Given the description of an element on the screen output the (x, y) to click on. 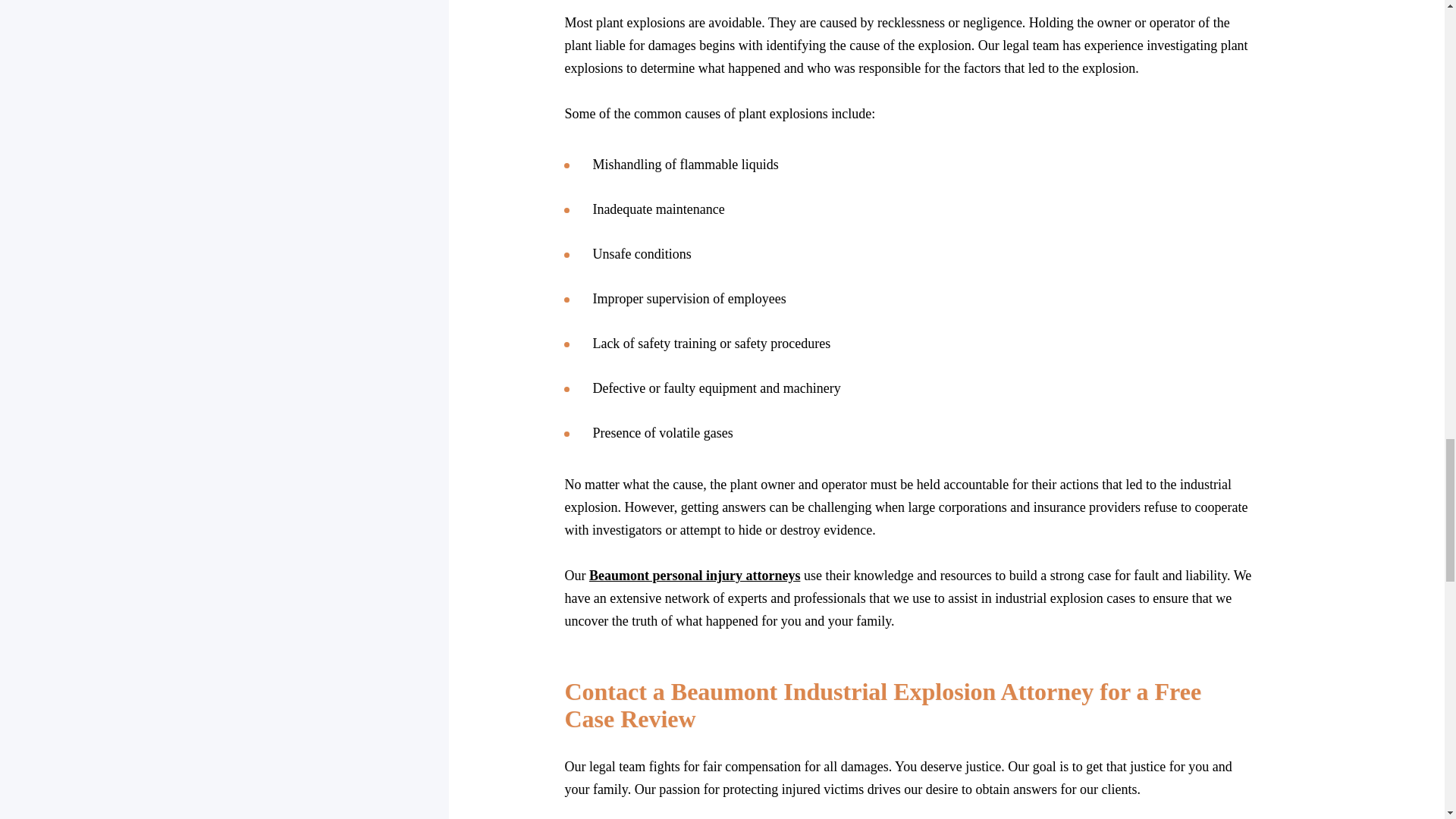
Beaumont personal injury attorneys (694, 575)
